Given the description of an element on the screen output the (x, y) to click on. 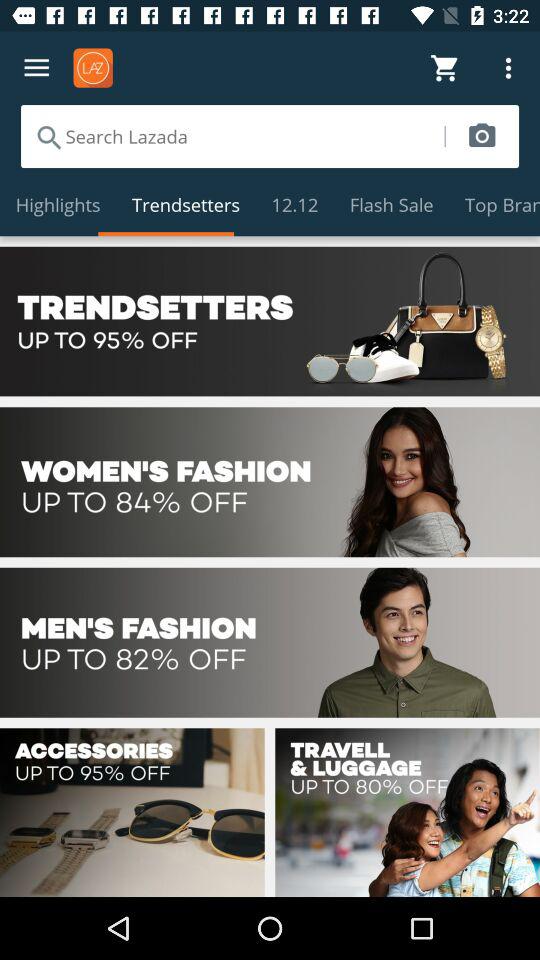
select option (270, 482)
